Given the description of an element on the screen output the (x, y) to click on. 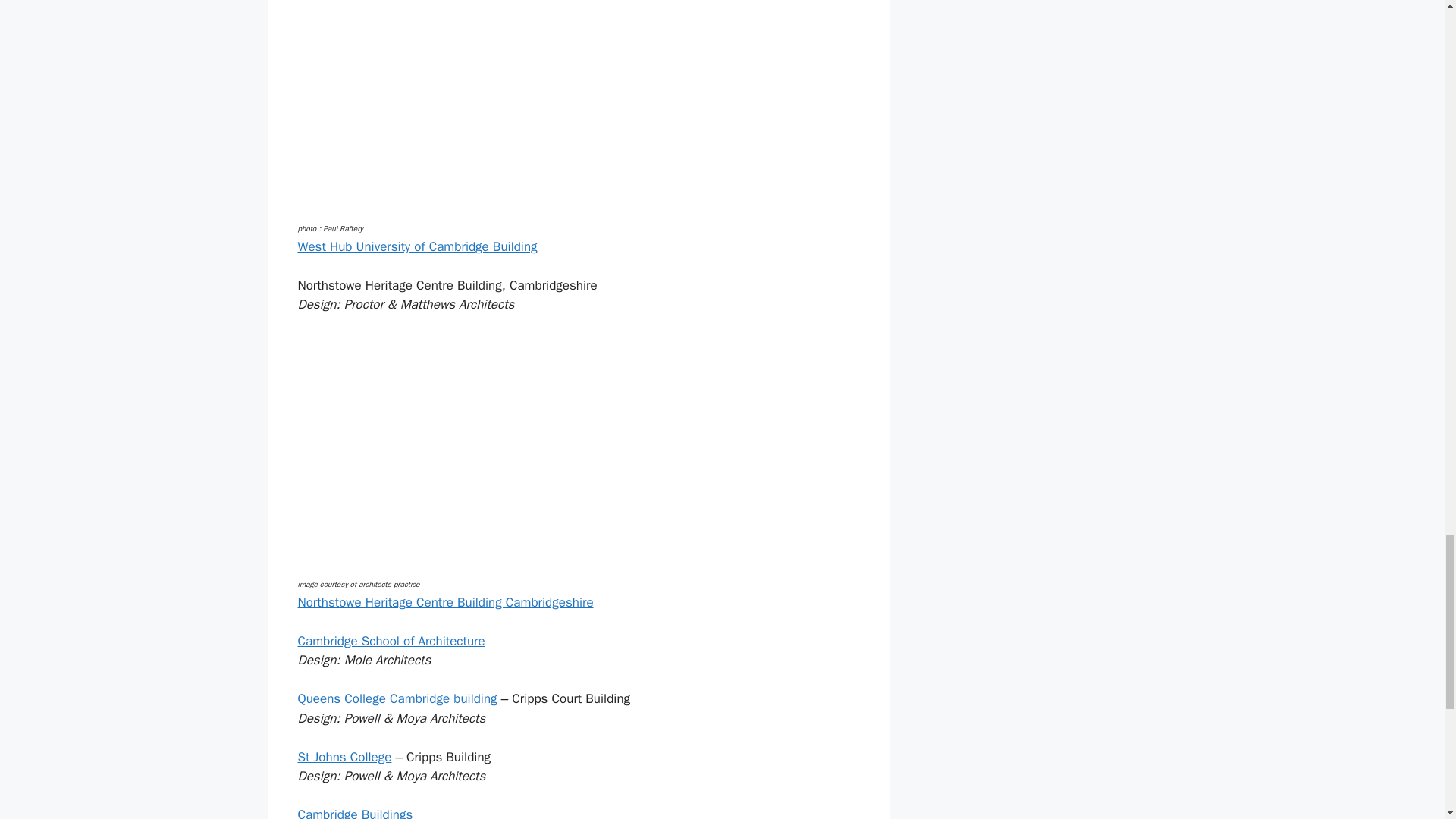
West Hub University of Cambridge Building (417, 246)
Cambridge School of Architecture (390, 641)
St Johns College (344, 756)
Northstowe Heritage Centre Building Cambridgeshire (444, 602)
Queens College Cambridge building (396, 698)
